Given the description of an element on the screen output the (x, y) to click on. 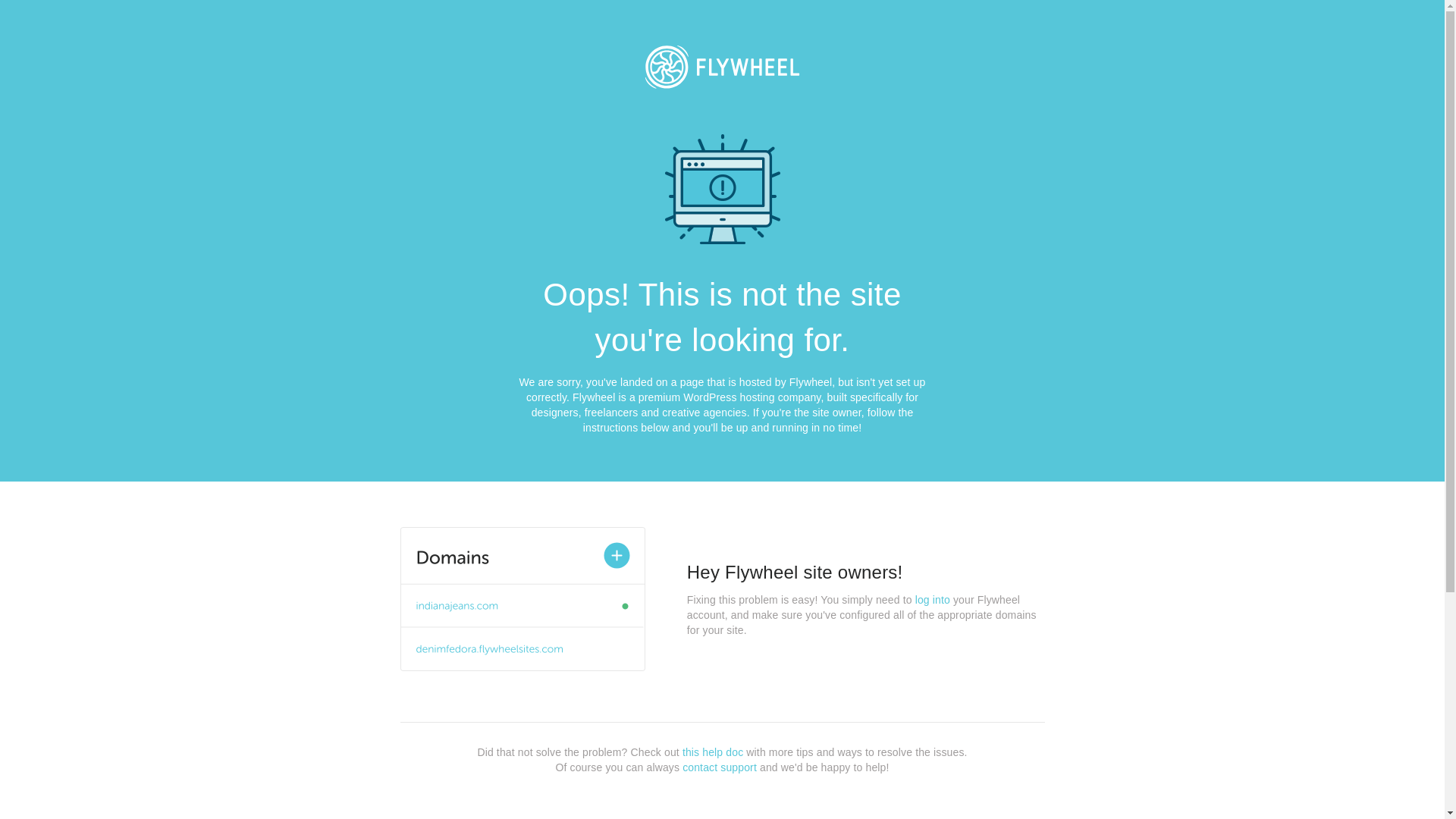
log into (932, 599)
contact support (719, 767)
this help doc (712, 752)
